Given the description of an element on the screen output the (x, y) to click on. 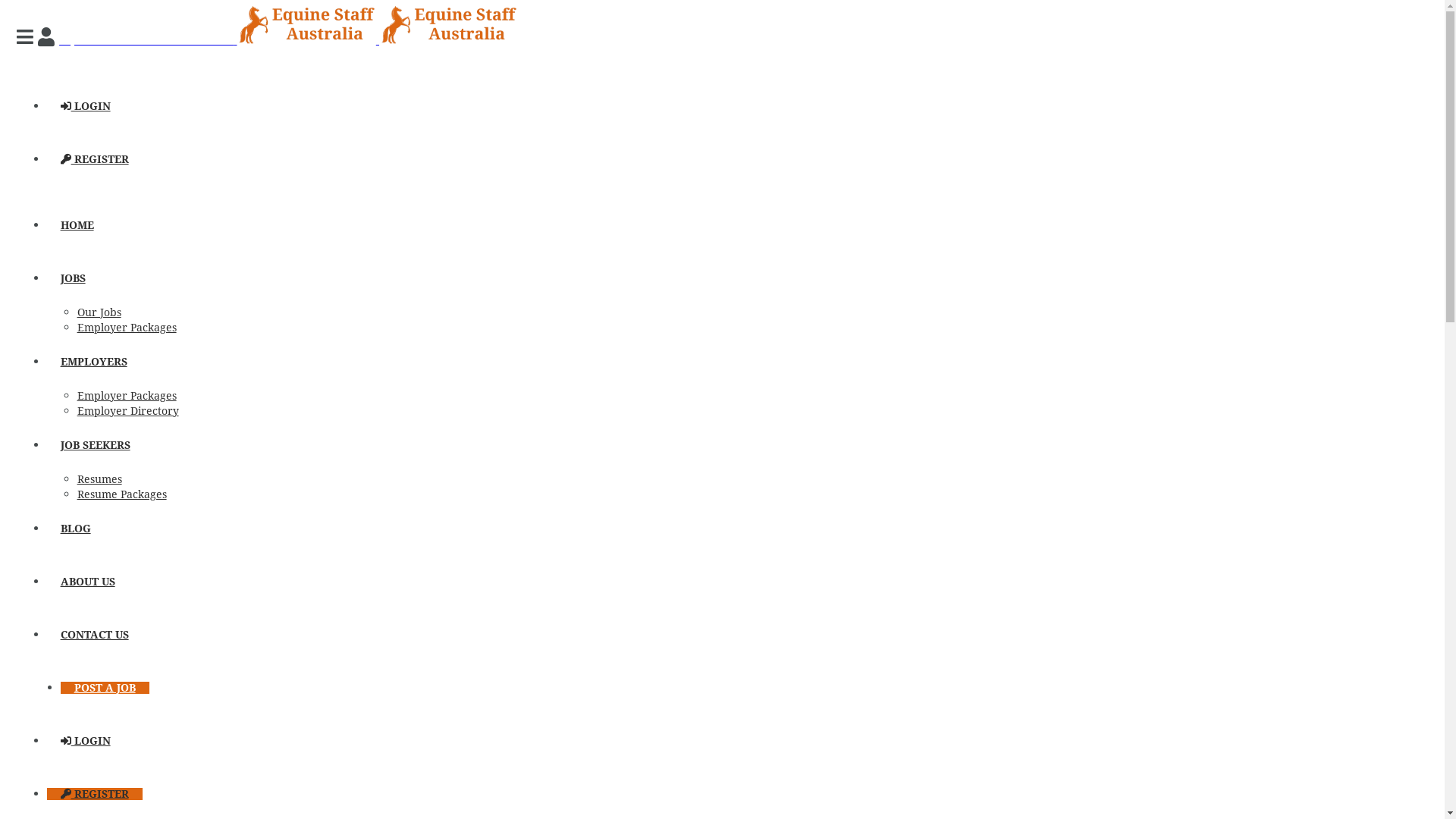
Employer Directory Element type: text (127, 410)
 LOGIN Element type: text (85, 106)
Employer Packages Element type: text (126, 327)
Navigation Element type: text (26, 37)
Equine Staff Horse Jobs Australia Element type: text (288, 39)
 LOGIN Element type: text (85, 740)
ABOUT US Element type: text (87, 581)
Employer Packages Element type: text (126, 395)
Resumes Element type: text (99, 479)
JOB SEEKERS Element type: text (95, 445)
REGISTER Element type: text (94, 159)
Resume Packages Element type: text (121, 494)
BLOG Element type: text (75, 528)
JOBS Element type: text (73, 278)
Our Jobs Element type: text (99, 312)
POST A JOB Element type: text (104, 687)
CONTACT US Element type: text (94, 634)
EMPLOYERS Element type: text (94, 361)
 REGISTER Element type: text (94, 793)
HOME Element type: text (77, 225)
